Given the description of an element on the screen output the (x, y) to click on. 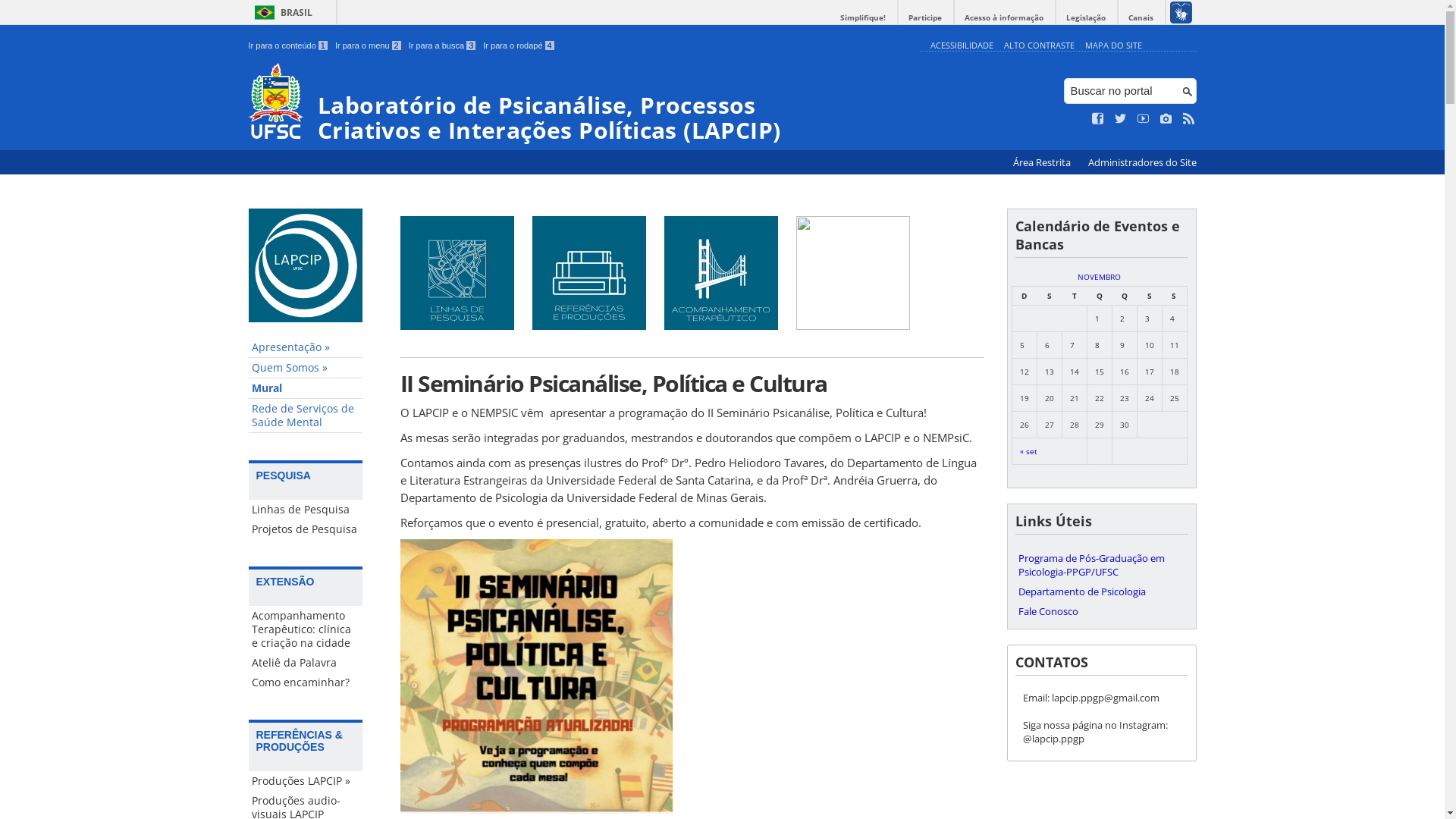
Linhas de Pesquisa Element type: text (305, 509)
Mural Element type: text (305, 388)
Projetos de Pesquisa Element type: text (305, 529)
Administradores do Site Element type: text (1141, 162)
ALTO CONTRASTE Element type: text (1039, 44)
Ir para o menu 2 Element type: text (368, 45)
Curta no Facebook Element type: hover (1098, 118)
NOVEMBRO Element type: text (1098, 276)
Ir para a busca 3 Element type: text (442, 45)
MAPA DO SITE Element type: text (1112, 44)
Canais Element type: text (1140, 18)
Fale Conosco Element type: text (1100, 611)
ACESSIBILIDADE Element type: text (960, 44)
Simplifique! Element type: text (862, 18)
Siga no Twitter Element type: hover (1120, 118)
Como encaminhar? Element type: text (305, 682)
Participe Element type: text (924, 18)
BRASIL Element type: text (280, 12)
Veja no Instagram Element type: hover (1166, 118)
Departamento de Psicologia Element type: text (1100, 591)
